Given the description of an element on the screen output the (x, y) to click on. 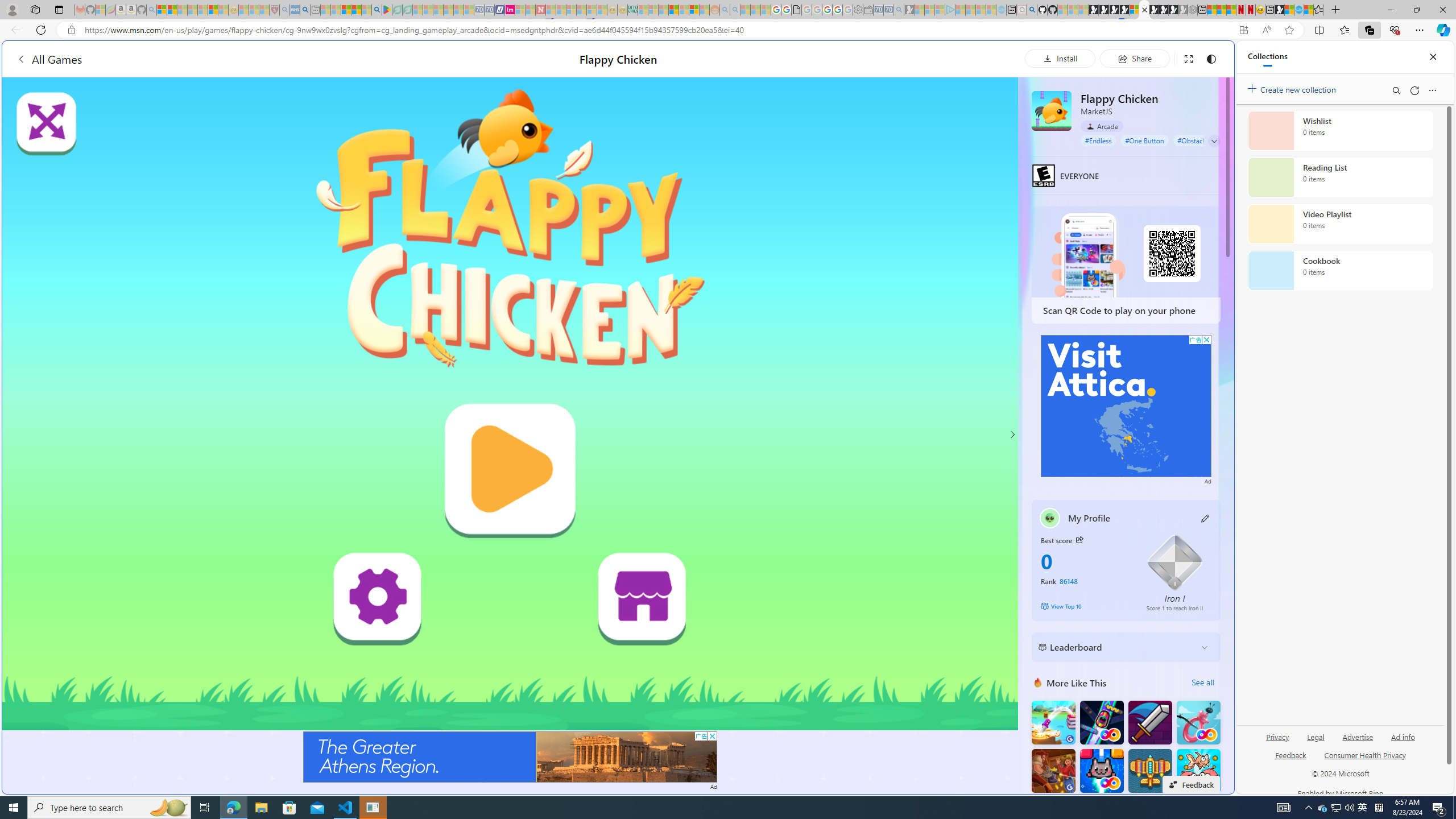
App available. Install Flappy Chicken (1243, 29)
Class: expand-arrow neutral (1214, 141)
Consumer Health Privacy (1364, 759)
Sign in to your account (1134, 9)
Bluey: Let's Play! - Apps on Google Play (387, 9)
